Given the description of an element on the screen output the (x, y) to click on. 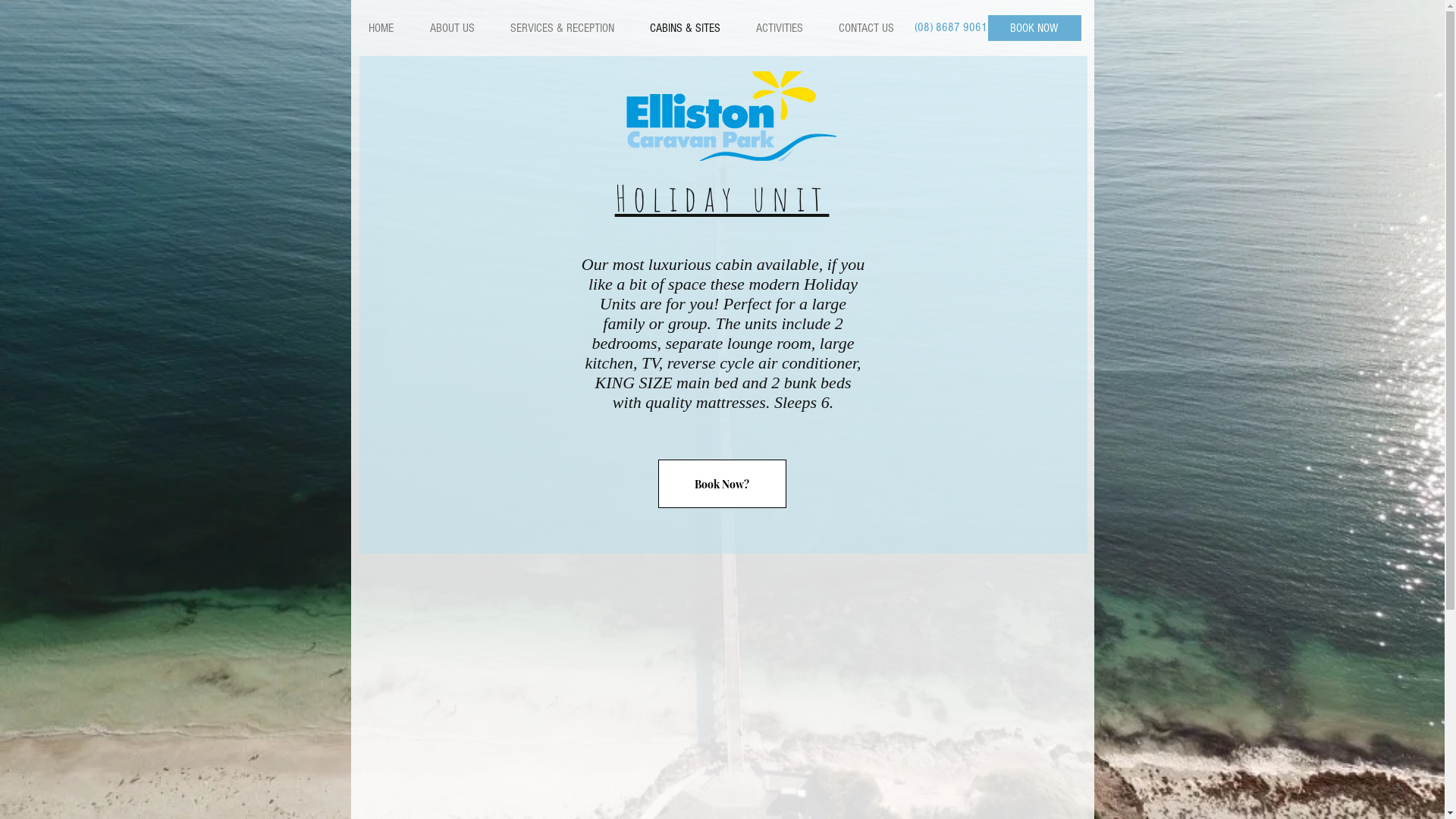
BOOK NOW Element type: text (1033, 27)
ACTIVITIES Element type: text (778, 27)
ABOUT US Element type: text (451, 27)
Book Now? Element type: text (722, 483)
CABINS & SITES Element type: text (683, 27)
CONTACT US Element type: text (865, 27)
HOME Element type: text (380, 27)
SERVICES & RECEPTION Element type: text (560, 27)
